Given the description of an element on the screen output the (x, y) to click on. 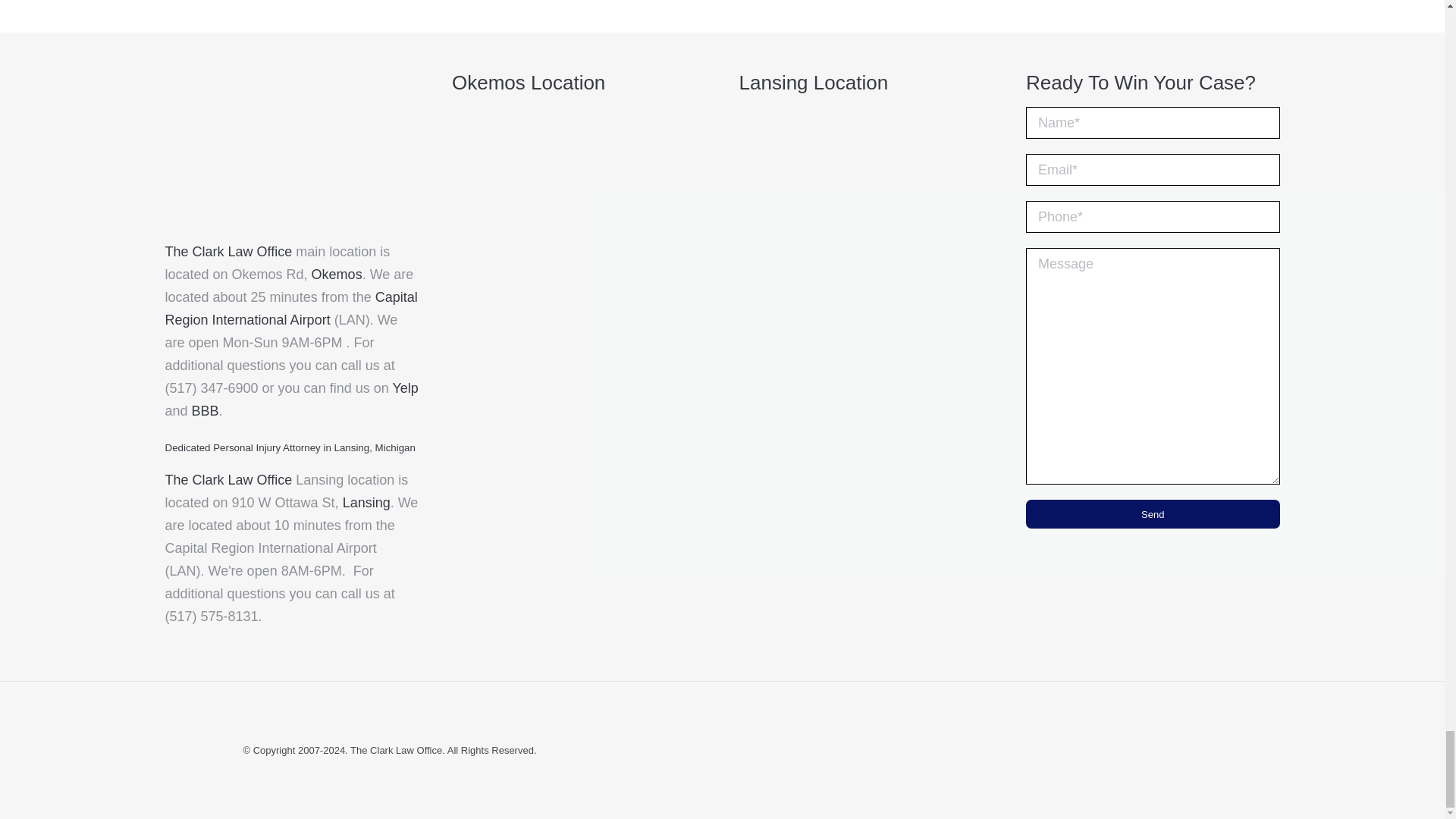
Send (1152, 513)
